Given the description of an element on the screen output the (x, y) to click on. 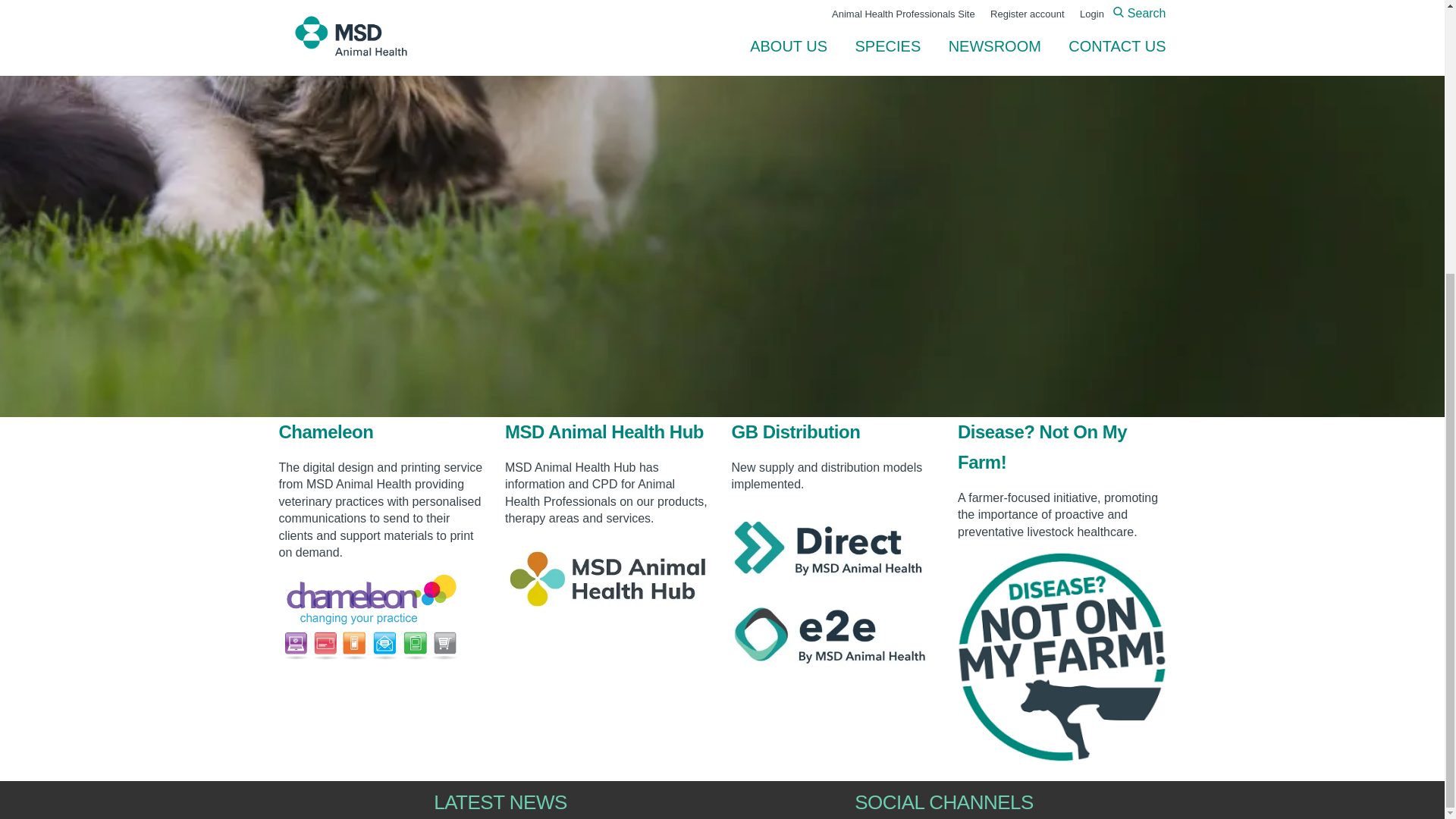
MSD Animal Health Hub (604, 431)
Chameleon (326, 431)
GB Distribution (795, 431)
